Given the description of an element on the screen output the (x, y) to click on. 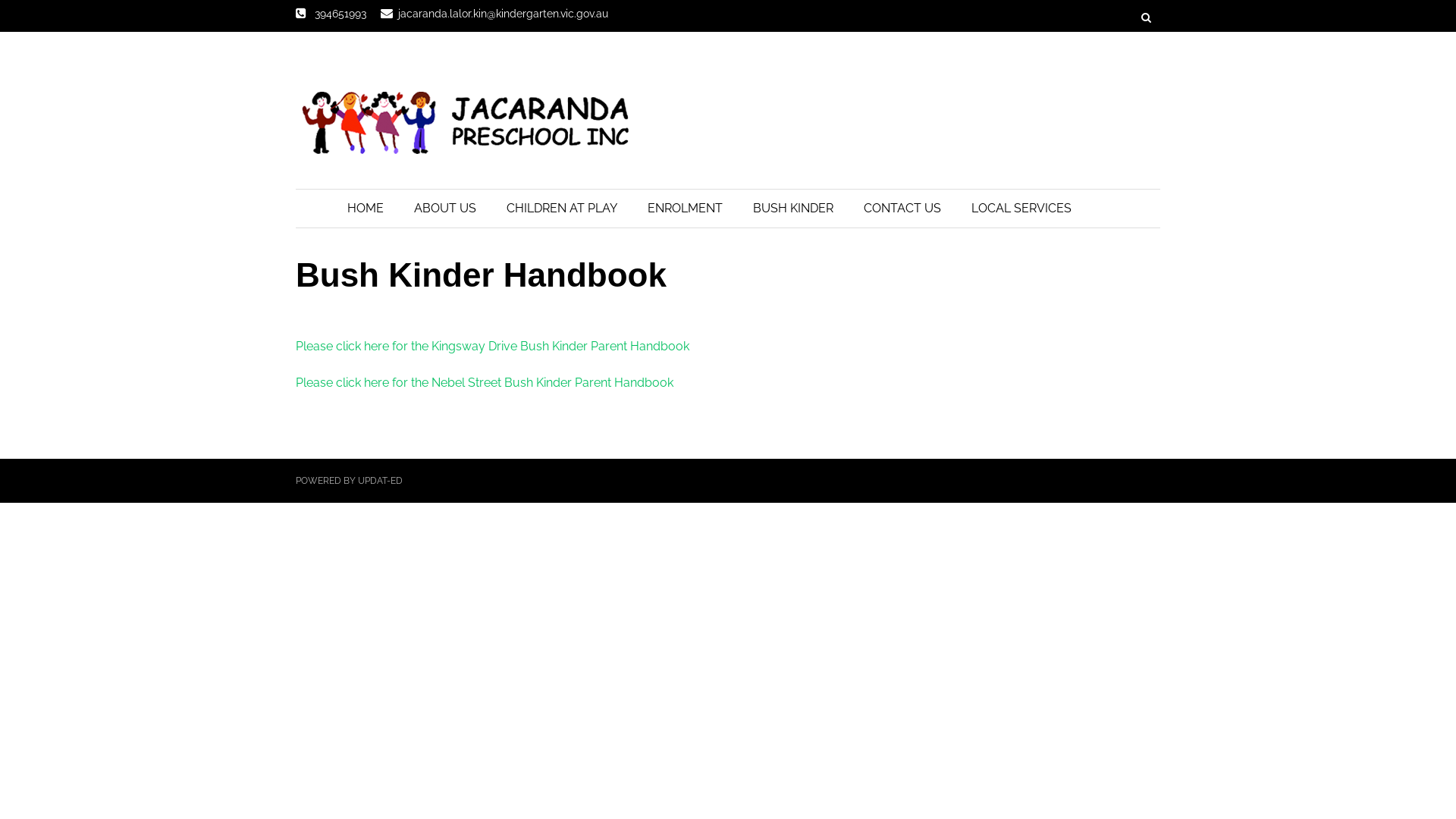
jacaranda.lalor.kin@kindergarten.vic.gov.au Element type: text (494, 13)
HOME Element type: text (365, 208)
CHILDREN AT PLAY Element type: text (561, 208)
ENROLMENT Element type: text (684, 208)
LOCAL SERVICES Element type: text (1020, 208)
CONTACT US Element type: text (901, 208)
BUSH KINDER Element type: text (792, 208)
ABOUT US Element type: text (444, 208)
POWERED BY UPDAT-ED Element type: text (348, 480)
